Given the description of an element on the screen output the (x, y) to click on. 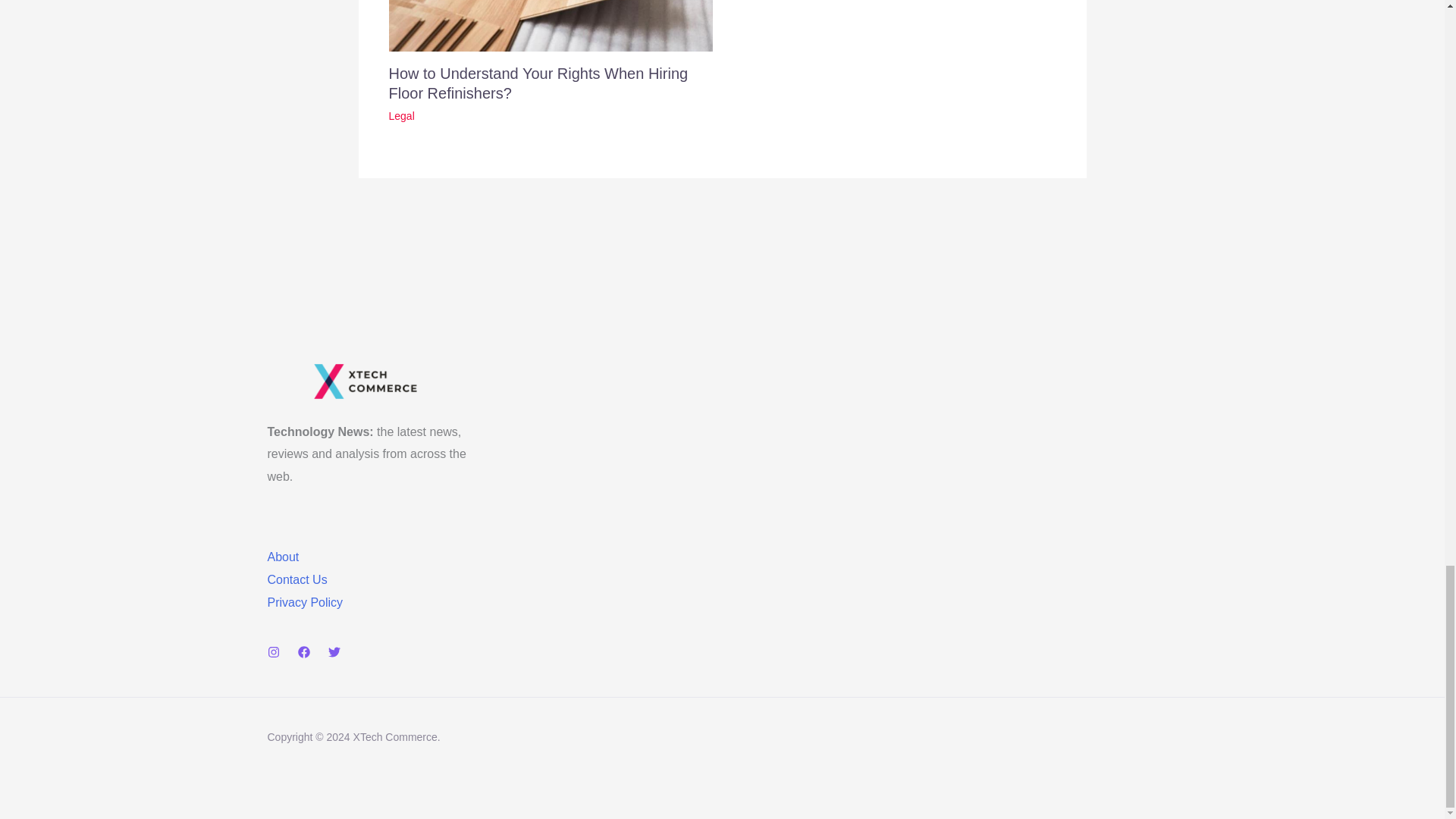
About (282, 556)
Contact Us (296, 579)
Privacy Policy (304, 602)
How to Understand Your Rights When Hiring Floor Refinishers? (537, 83)
Legal (400, 115)
